Given the description of an element on the screen output the (x, y) to click on. 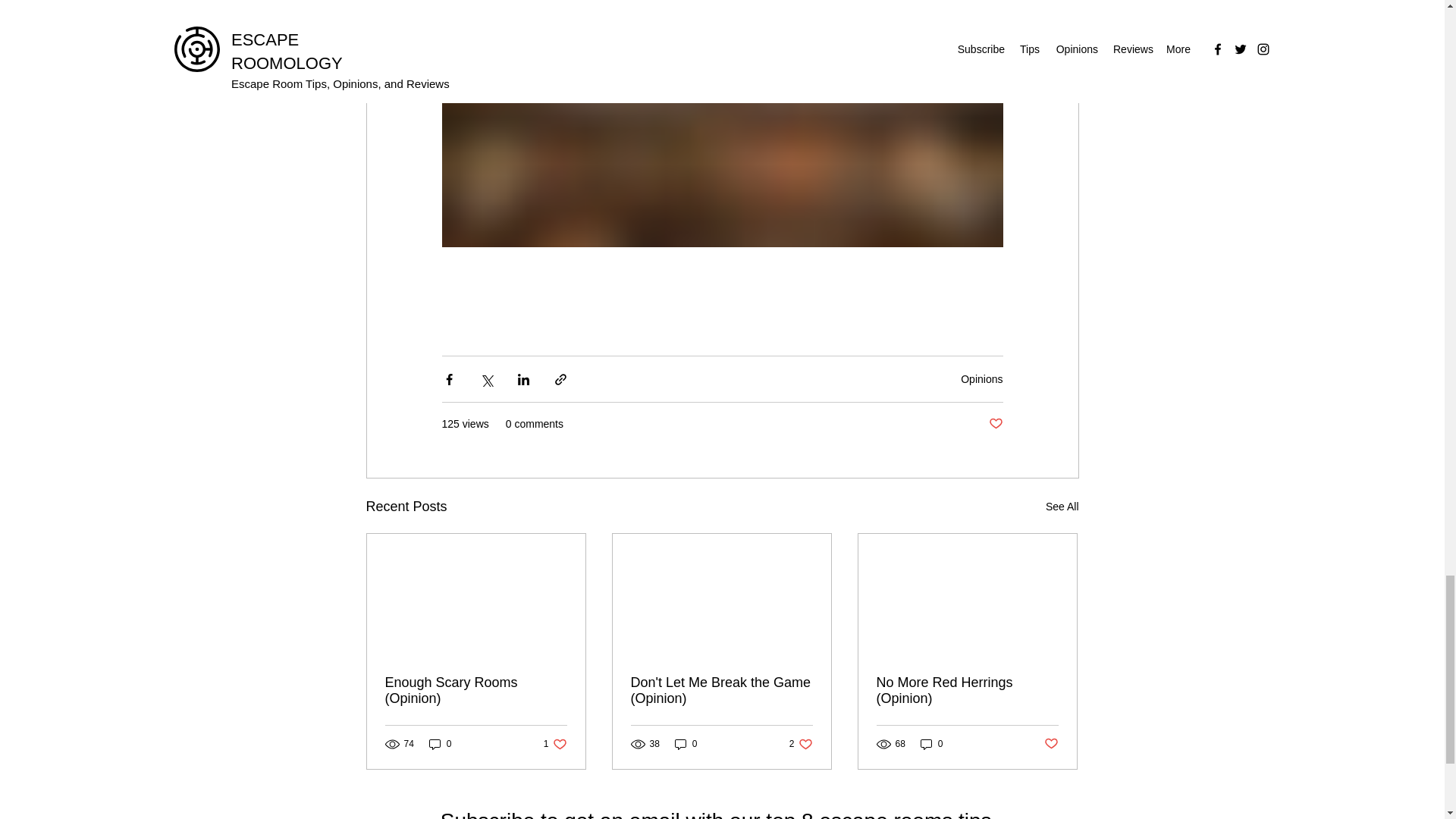
0 (440, 744)
0 (685, 744)
Opinions (981, 378)
Post not marked as liked (995, 424)
See All (1061, 506)
Post not marked as liked (1050, 744)
0 (800, 744)
